Given the description of an element on the screen output the (x, y) to click on. 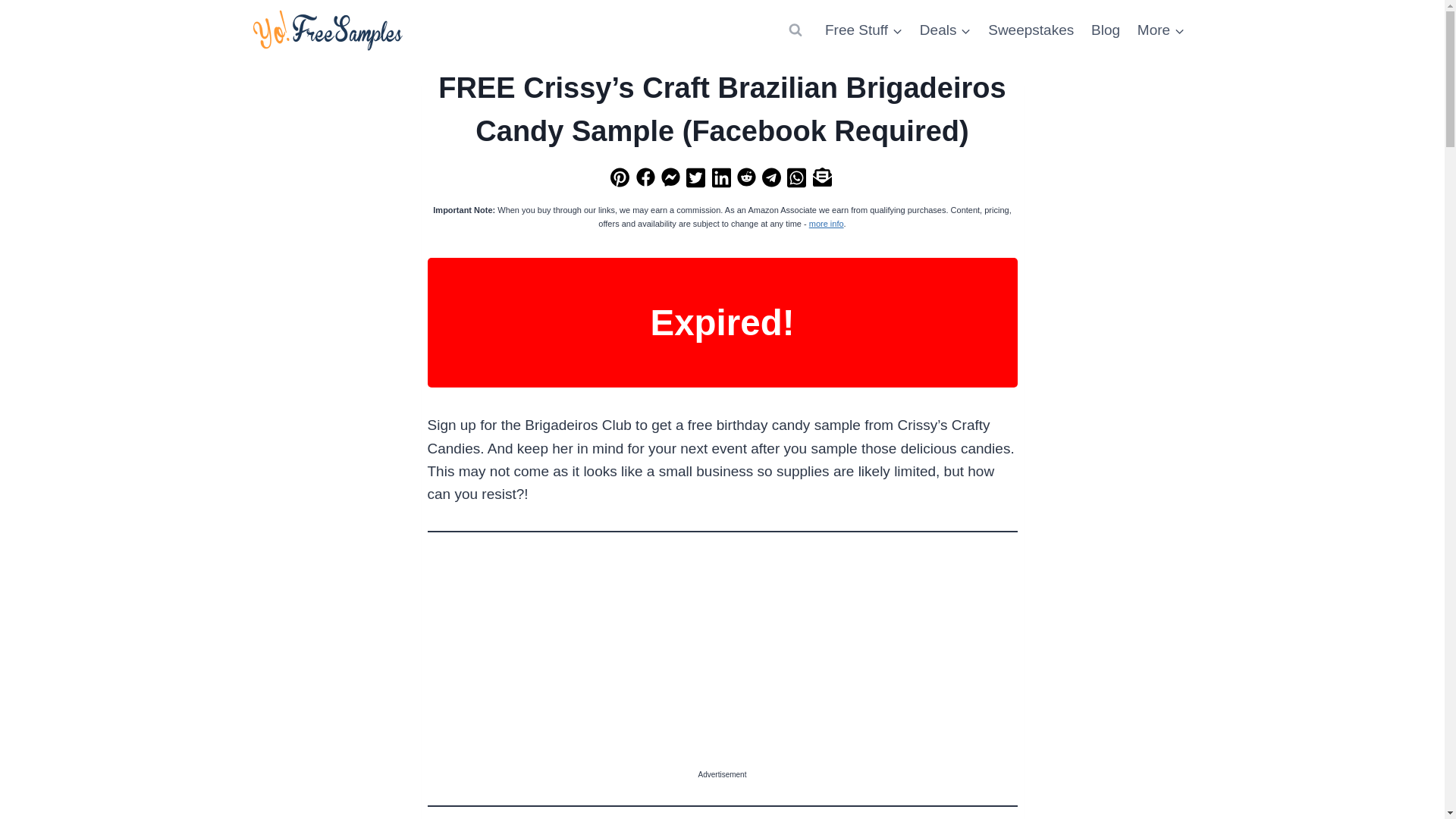
Free Stuff (863, 29)
Deals (944, 29)
Advertisement (722, 662)
Blog (1106, 29)
Sweepstakes (1031, 29)
More (1160, 29)
